Given the description of an element on the screen output the (x, y) to click on. 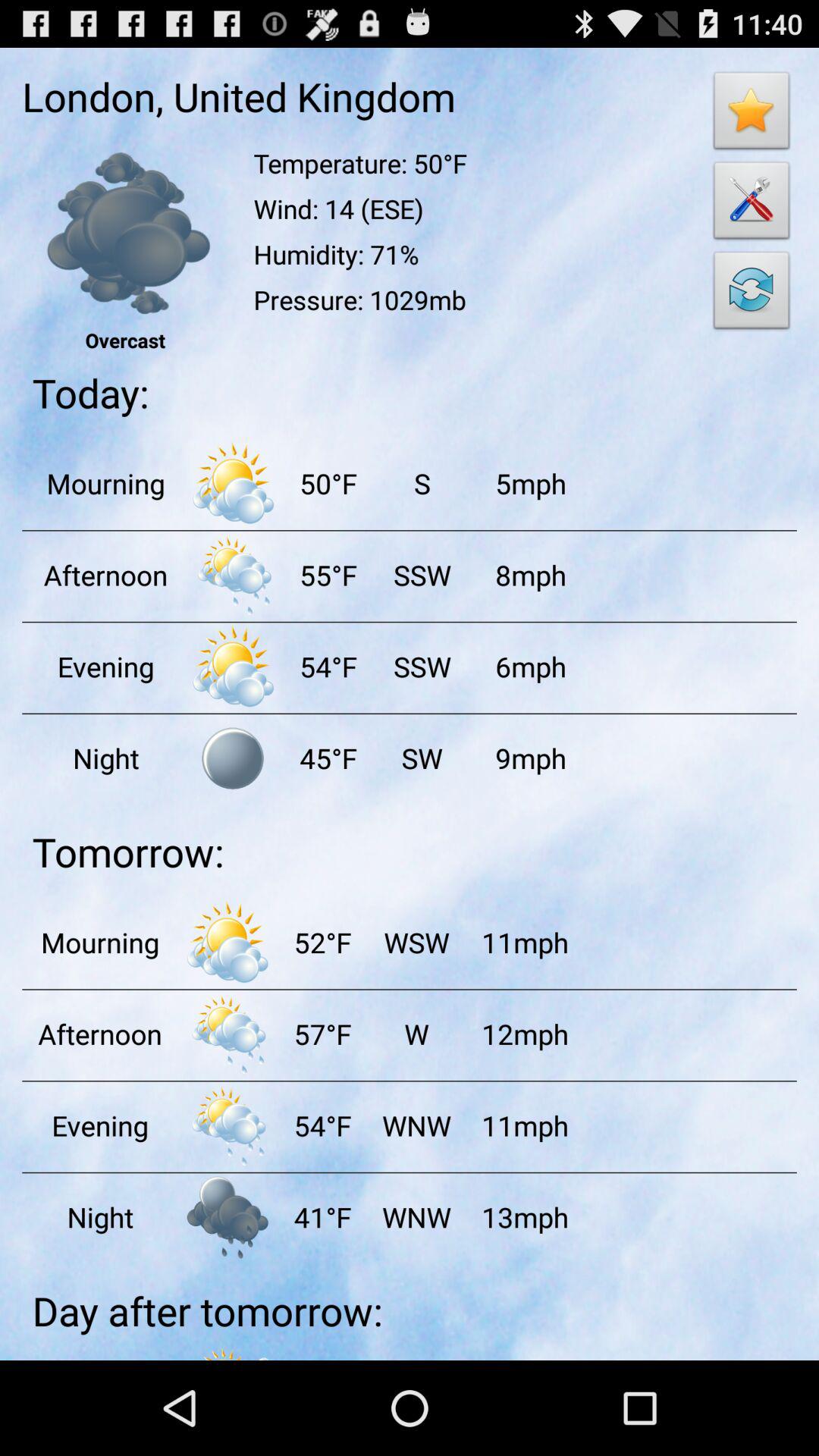
select browsing (232, 757)
